Given the description of an element on the screen output the (x, y) to click on. 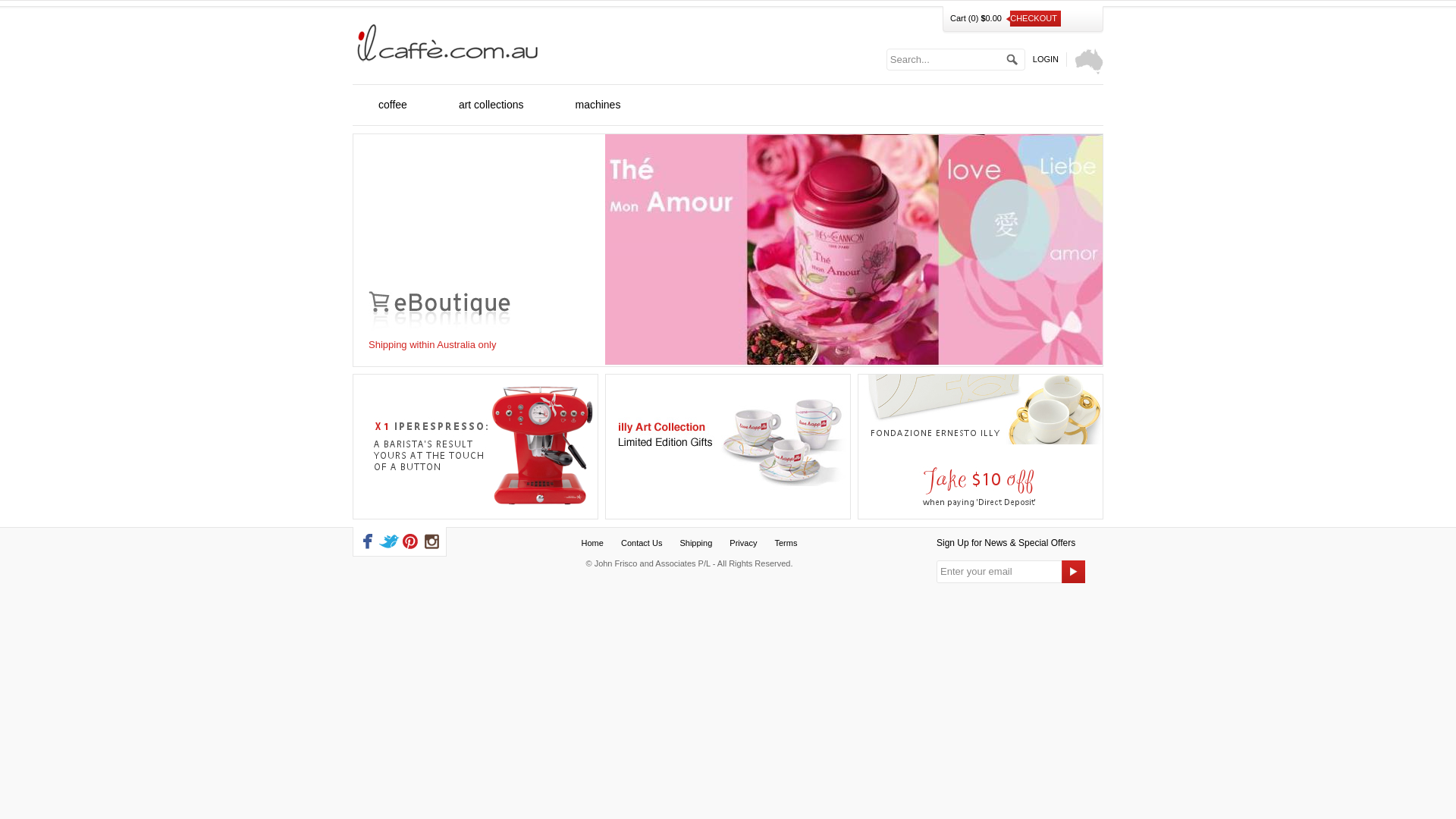
MonAmour - George Cannon fine quality boutique French Teas Element type: hover (853, 362)
Contact Us Element type: text (641, 542)
GO Element type: text (1073, 571)
Il Caffe Element type: hover (447, 42)
art collections Element type: text (491, 104)
Facebook Element type: hover (367, 541)
Il Caffe Australia Element type: hover (1088, 61)
machines Element type: text (597, 104)
Instagram Element type: hover (431, 541)
Privacy Element type: text (742, 542)
Home Element type: text (592, 542)
GO Element type: text (1011, 59)
Twitter Element type: hover (388, 541)
Cart Element type: text (958, 18)
coffee Element type: text (392, 104)
Pinterest Element type: hover (409, 541)
LOGIN Element type: text (1045, 59)
Shipping Element type: text (695, 542)
Terms Element type: text (785, 542)
CHECKOUT Element type: text (1032, 18)
